Given the description of an element on the screen output the (x, y) to click on. 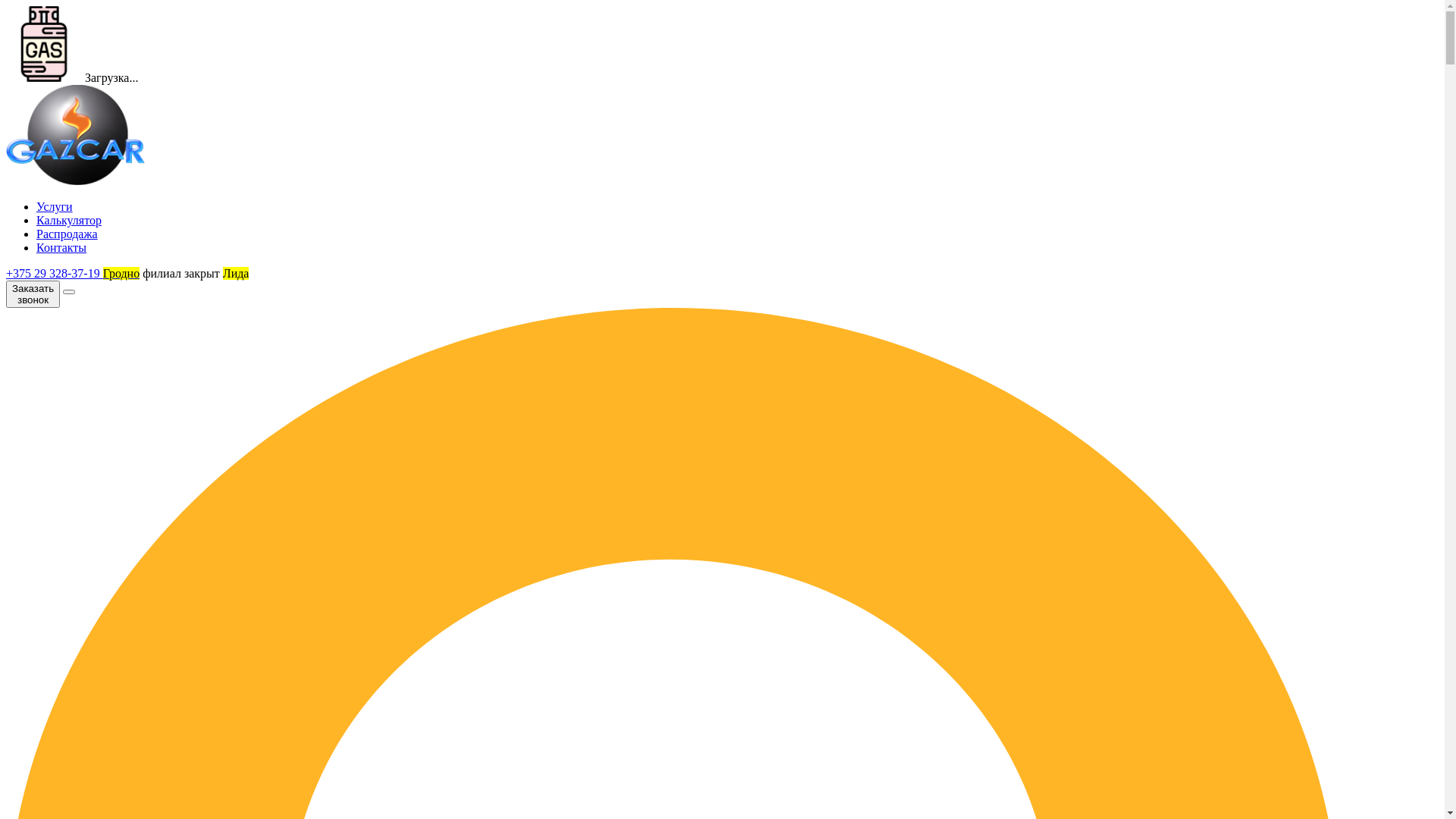
GazCar Element type: hover (75, 134)
